Given the description of an element on the screen output the (x, y) to click on. 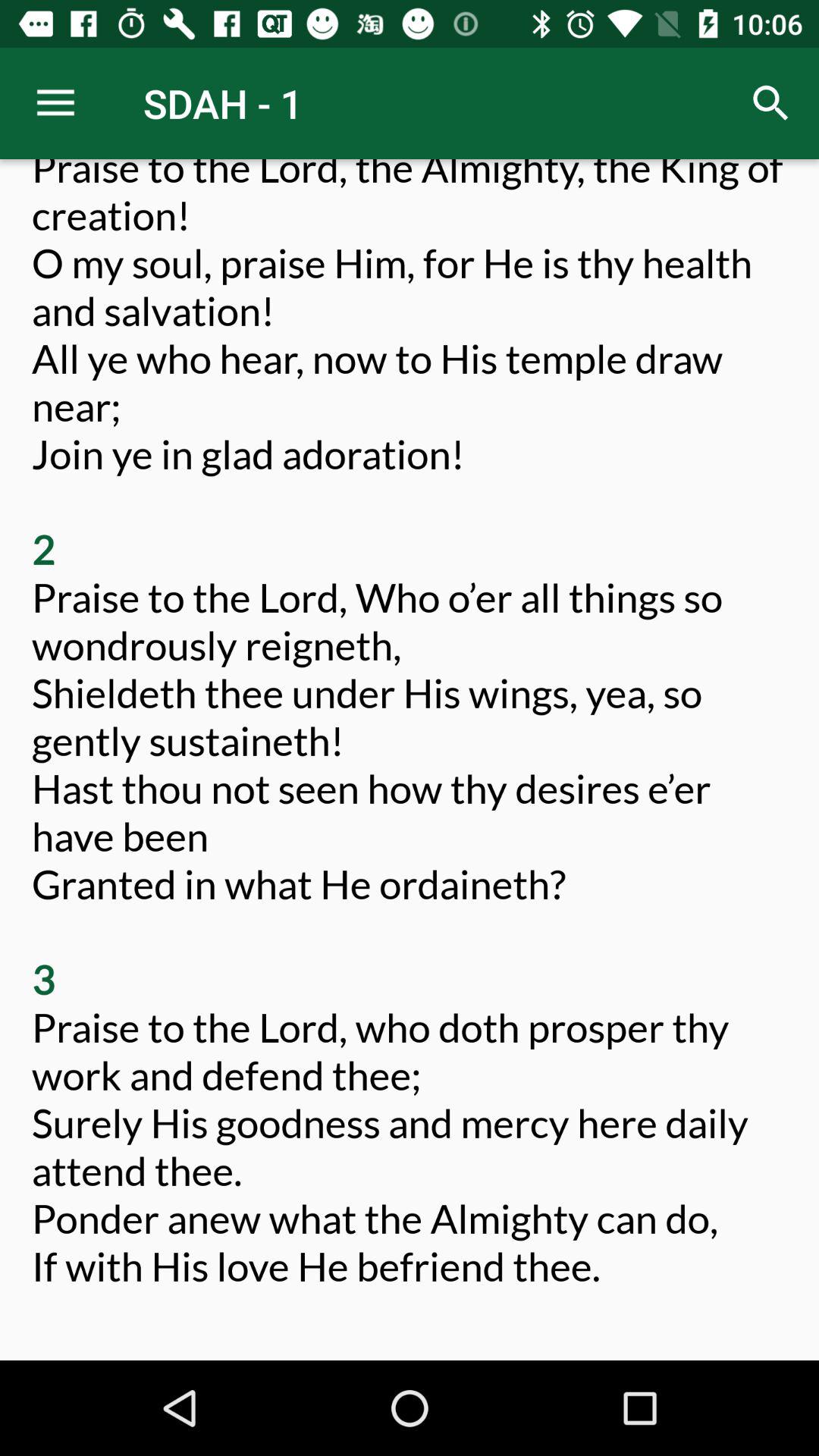
tap icon at the top right corner (771, 103)
